Given the description of an element on the screen output the (x, y) to click on. 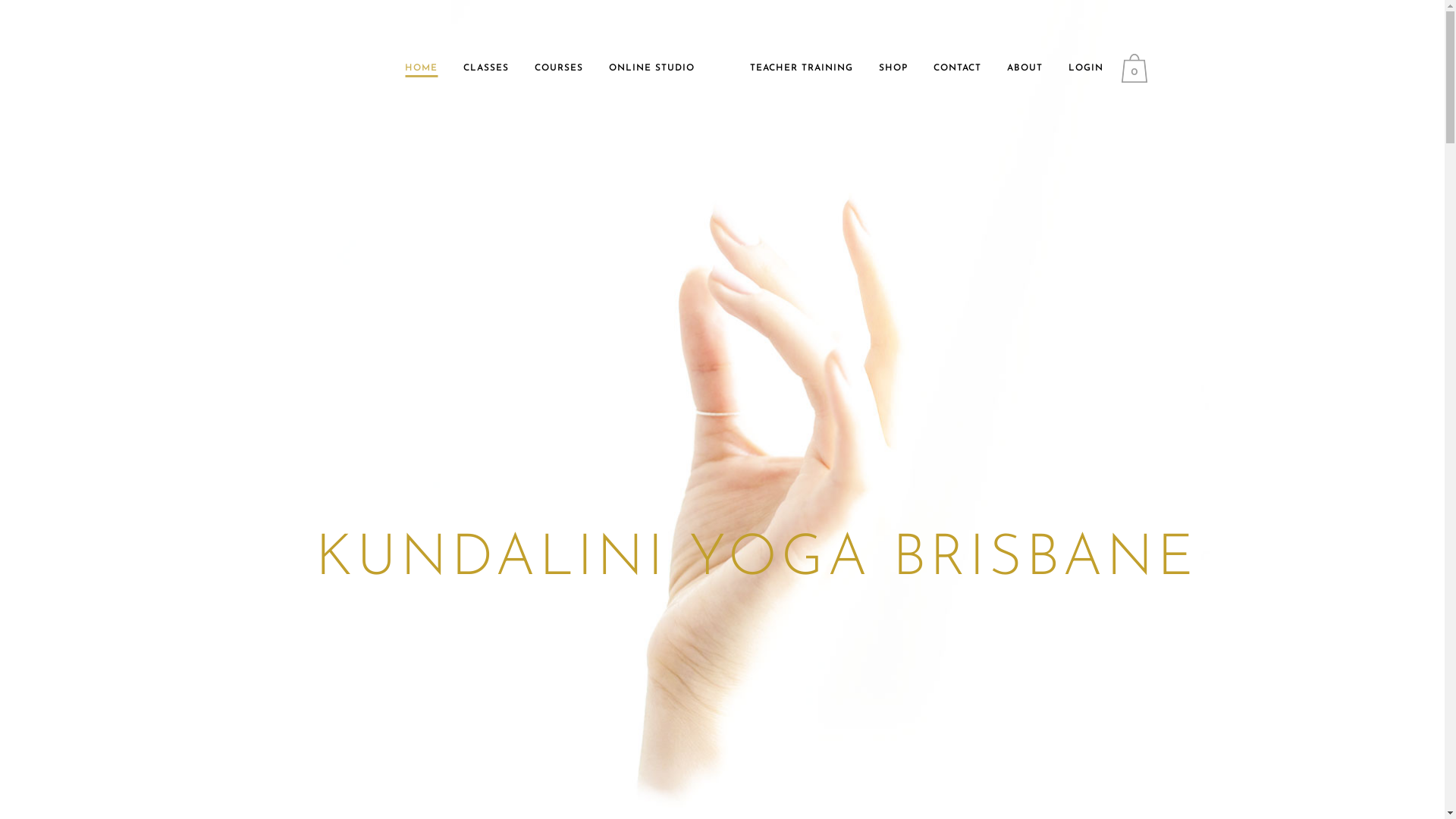
SHOP Element type: text (893, 68)
0 Element type: text (1137, 67)
TEACHER TRAINING Element type: text (801, 68)
CONTACT Element type: text (957, 68)
HOME Element type: text (421, 68)
COURSES Element type: text (558, 68)
LOGIN Element type: text (1085, 68)
ONLINE STUDIO Element type: text (651, 68)
CLASSES Element type: text (485, 68)
ABOUT Element type: text (1024, 68)
